Given the description of an element on the screen output the (x, y) to click on. 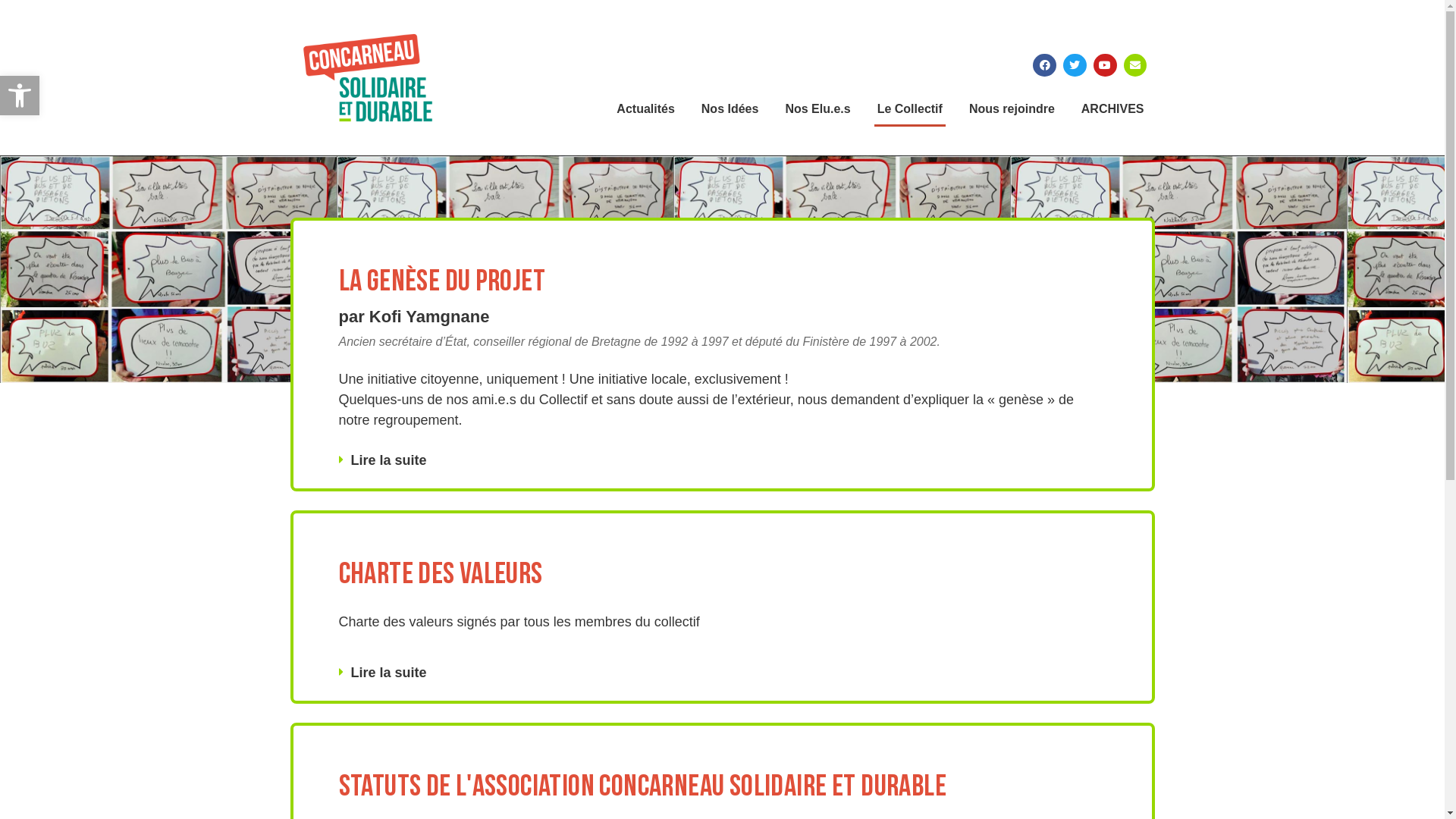
Le Collectif Element type: text (909, 108)
Nos Elu.e.s Element type: text (817, 108)
Lire la suite Element type: text (388, 672)
Nous rejoindre Element type: text (1011, 108)
ARCHIVES Element type: text (1112, 108)
Lire la suite Element type: text (388, 459)
